Given the description of an element on the screen output the (x, y) to click on. 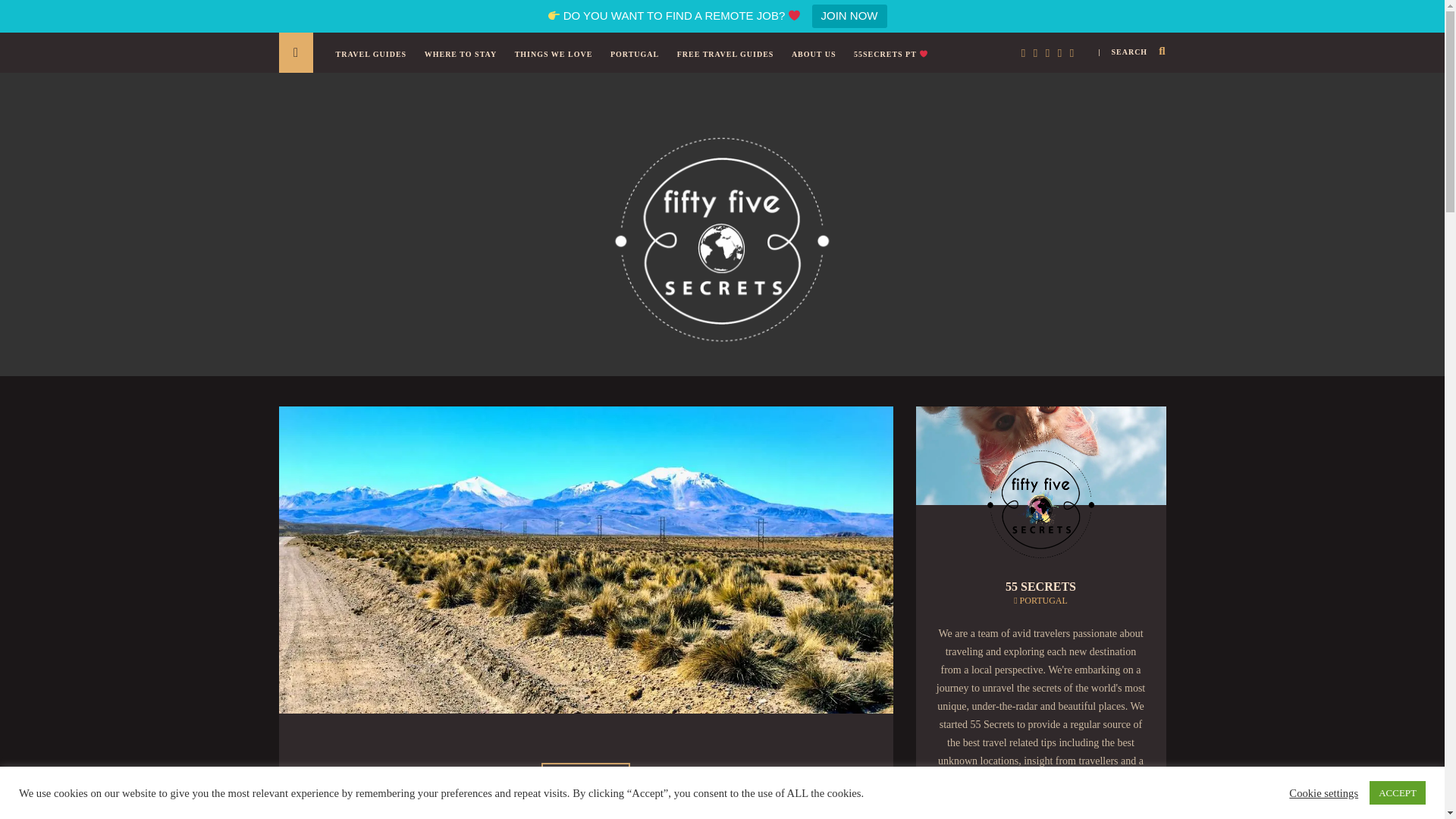
ABOUT US (818, 62)
THINGS WE LOVE (557, 62)
PORTUGAL (638, 62)
55SECRETS PT (894, 62)
JOIN NOW (849, 15)
55Secrets :  Portuguese Travel Couple  (721, 237)
TRAVEL GUIDES (373, 62)
ON THE ROAD (584, 772)
FREE TRAVEL GUIDES (729, 62)
WHERE TO STAY (464, 62)
